Given the description of an element on the screen output the (x, y) to click on. 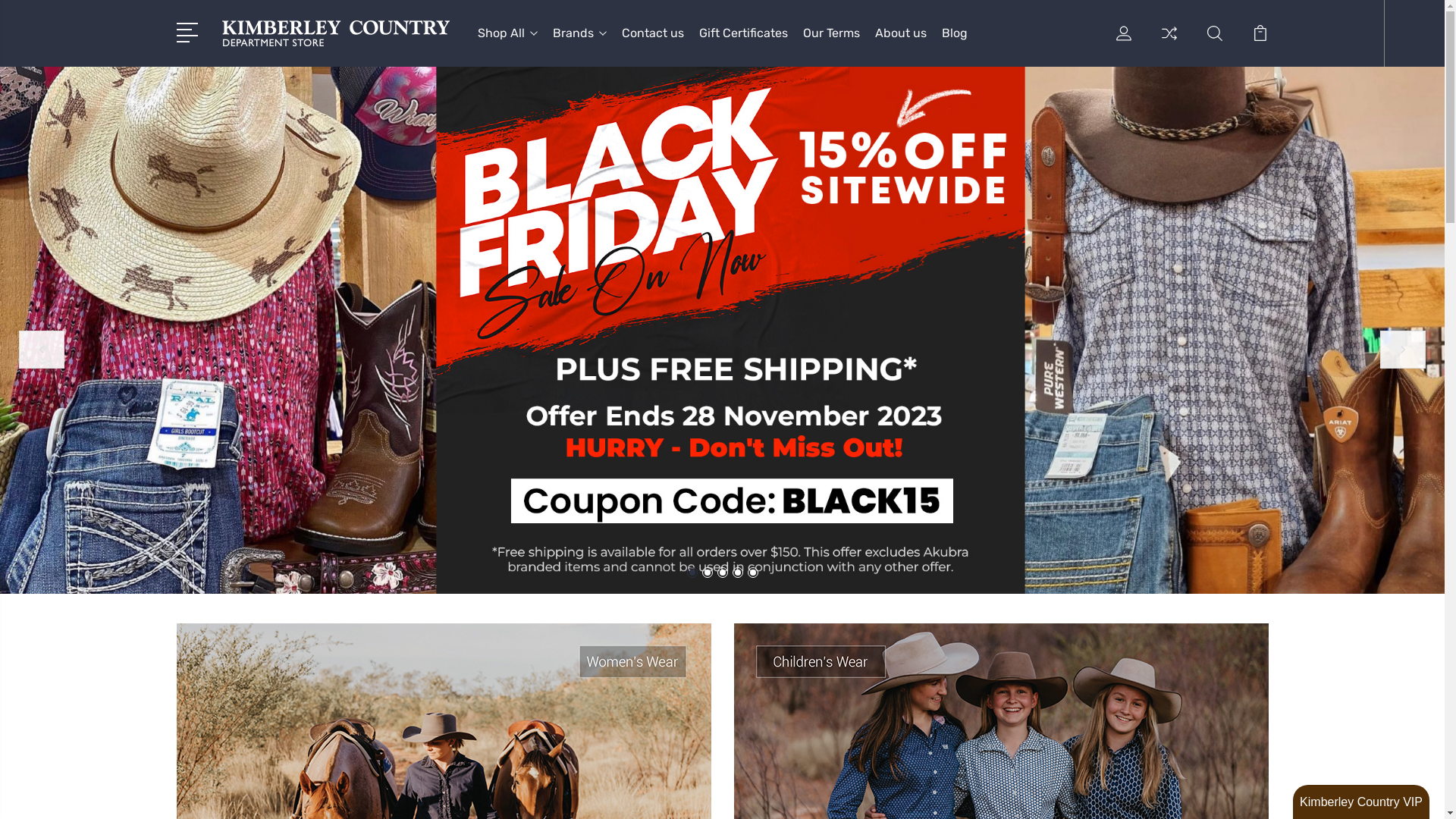
Compare Element type: hover (1168, 41)
4 Element type: text (737, 572)
3 Element type: text (722, 572)
Our Terms Element type: text (830, 41)
Gift Certificates Element type: text (743, 41)
1 Element type: text (692, 572)
KIMBERLEY COUNTRY DEPARTMENT STORE Element type: hover (334, 33)
5 Element type: text (752, 572)
Blog Element type: text (954, 41)
Brands Element type: text (578, 41)
About us Element type: text (900, 41)
Contact us Element type: text (652, 41)
Shop All Element type: text (507, 41)
2 Element type: text (707, 572)
